Given the description of an element on the screen output the (x, y) to click on. 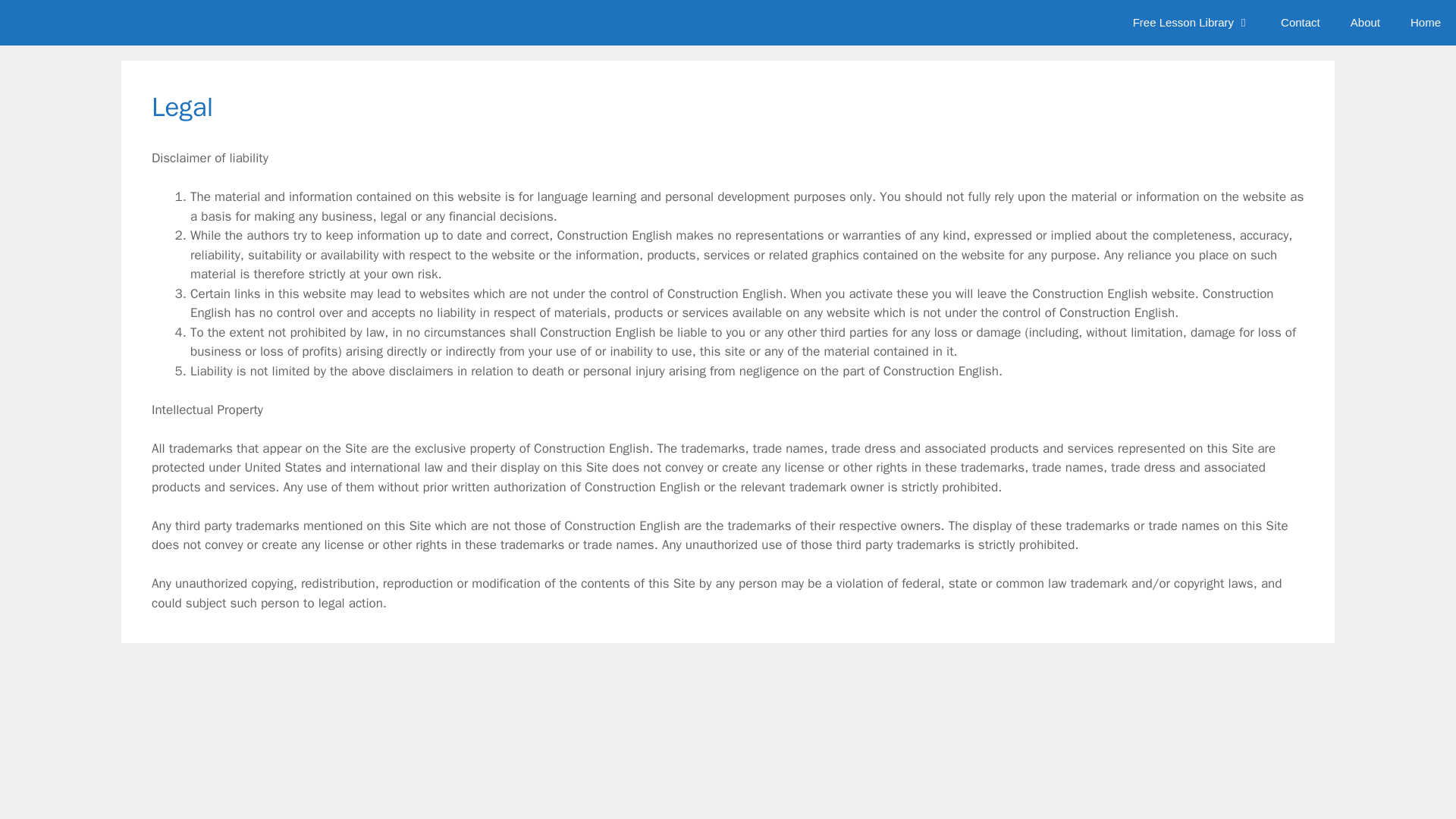
Free Lesson Library (1191, 22)
About (1364, 22)
Contact (1300, 22)
